Given the description of an element on the screen output the (x, y) to click on. 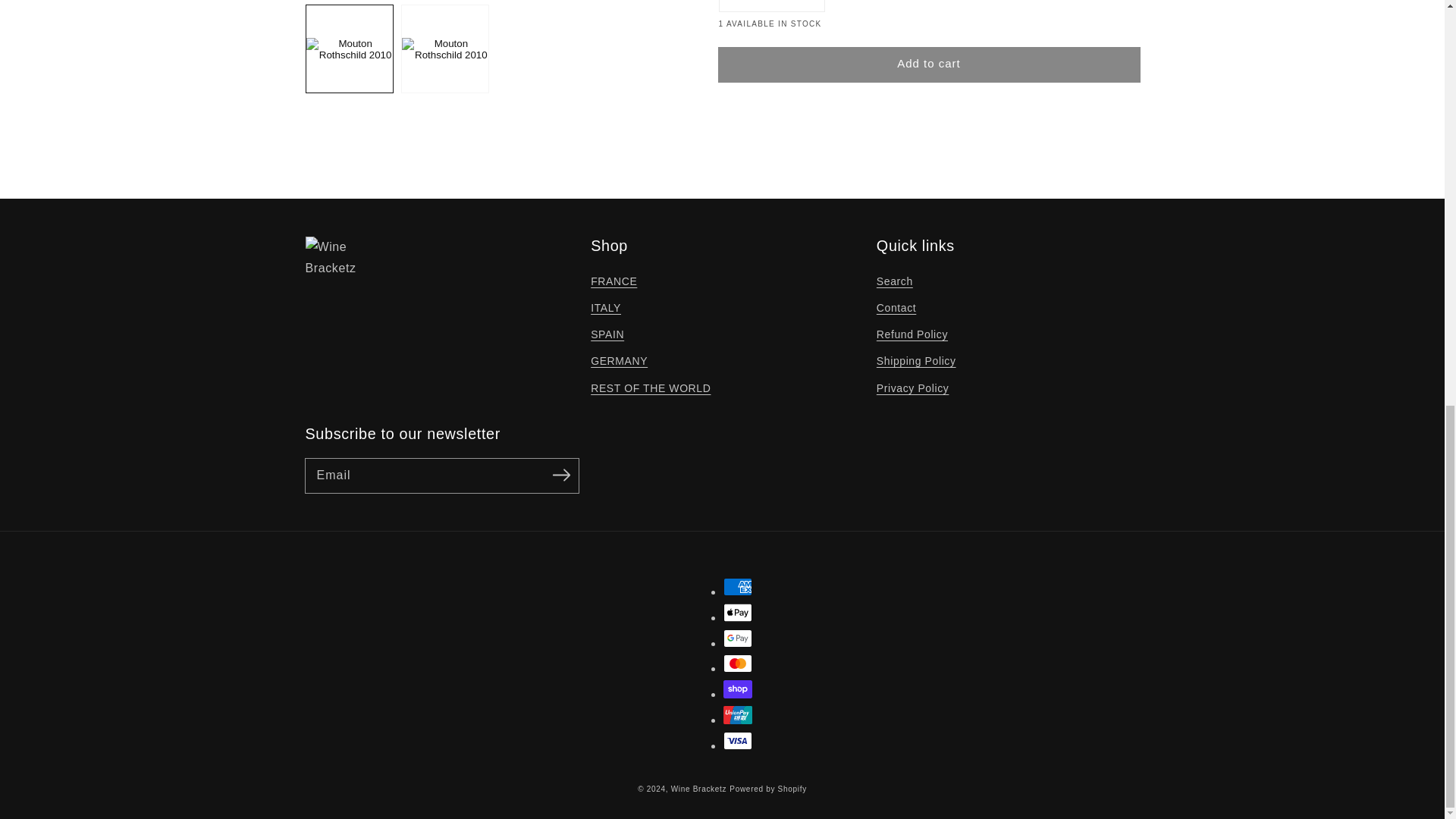
Shop Pay (737, 689)
Apple Pay (737, 612)
1 (772, 5)
American Express (737, 587)
Visa (737, 741)
Union Pay (737, 714)
Mastercard (737, 663)
Google Pay (737, 638)
